Given the description of an element on the screen output the (x, y) to click on. 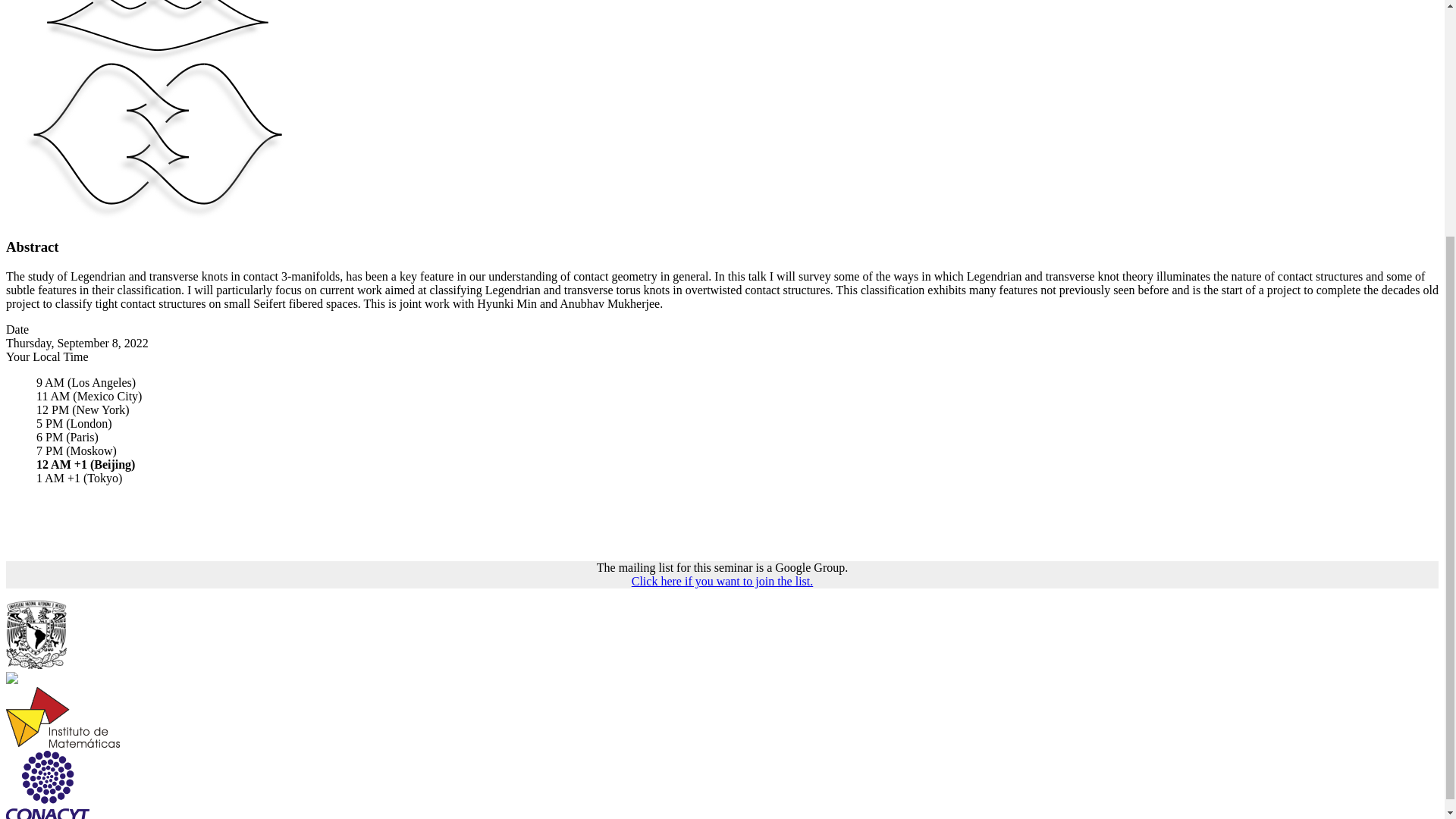
Click here if you want to join the list. (722, 581)
